Given the description of an element on the screen output the (x, y) to click on. 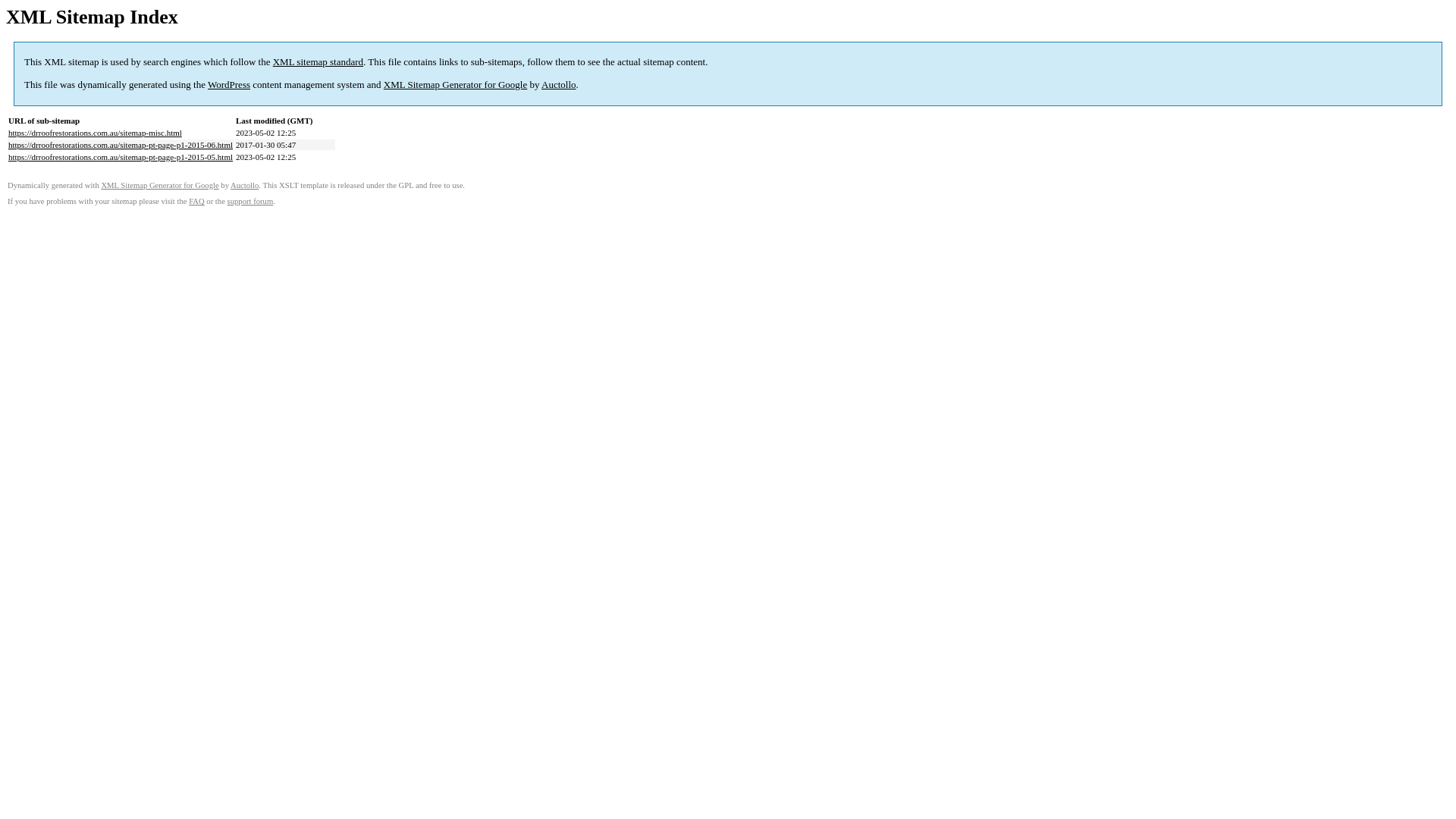
Auctollo Element type: text (558, 84)
WordPress Element type: text (228, 84)
XML Sitemap Generator for Google Element type: text (455, 84)
FAQ Element type: text (196, 201)
Auctollo Element type: text (244, 185)
XML sitemap standard Element type: text (318, 61)
https://drroofrestorations.com.au/sitemap-misc.html Element type: text (95, 132)
XML Sitemap Generator for Google Element type: text (159, 185)
support forum Element type: text (250, 201)
